Given the description of an element on the screen output the (x, y) to click on. 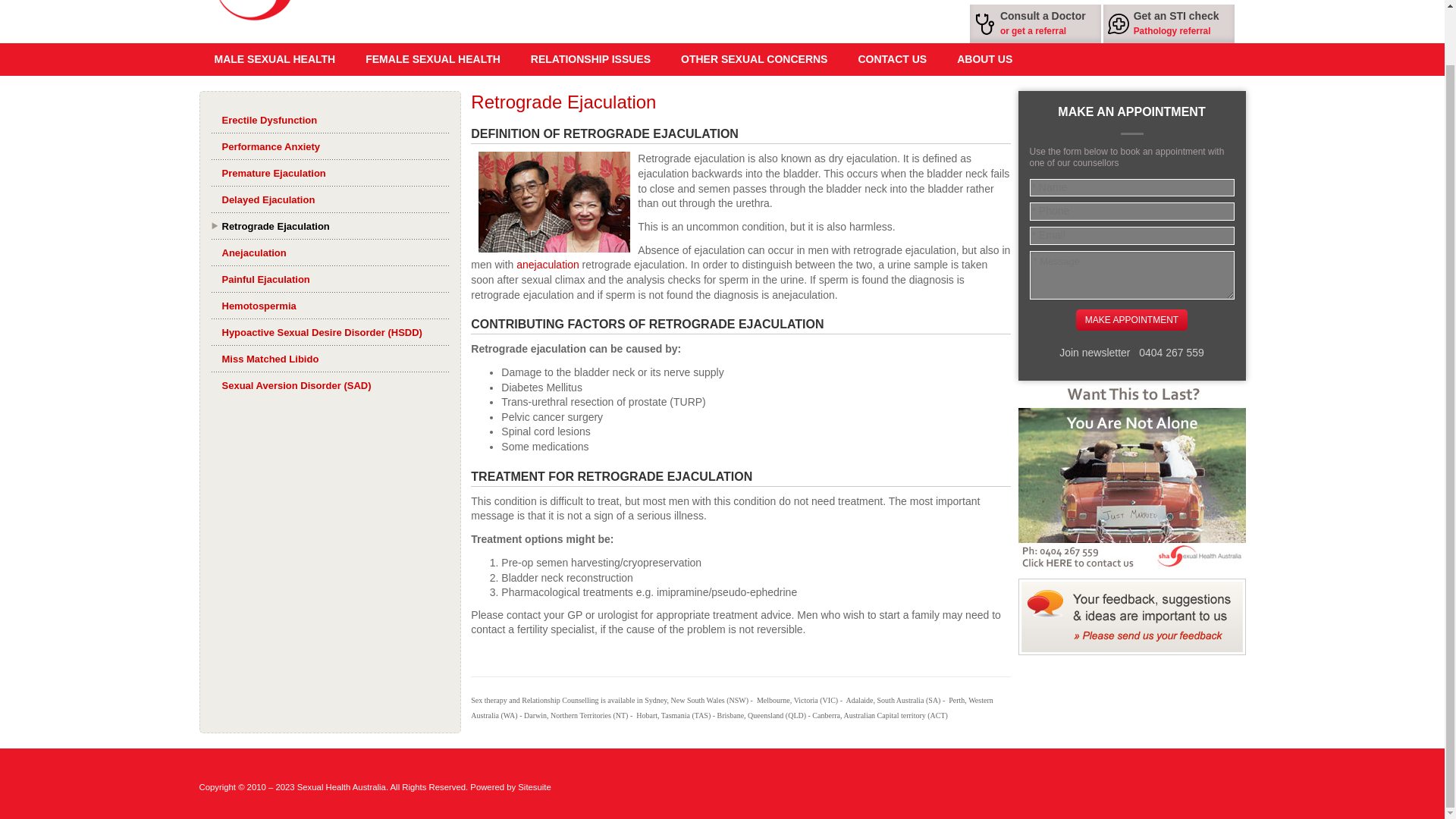
Send us your feedback (1130, 616)
Intimacy Issues?  You are not alone (1130, 475)
Retrograde Ejaculation (554, 201)
